Given the description of an element on the screen output the (x, y) to click on. 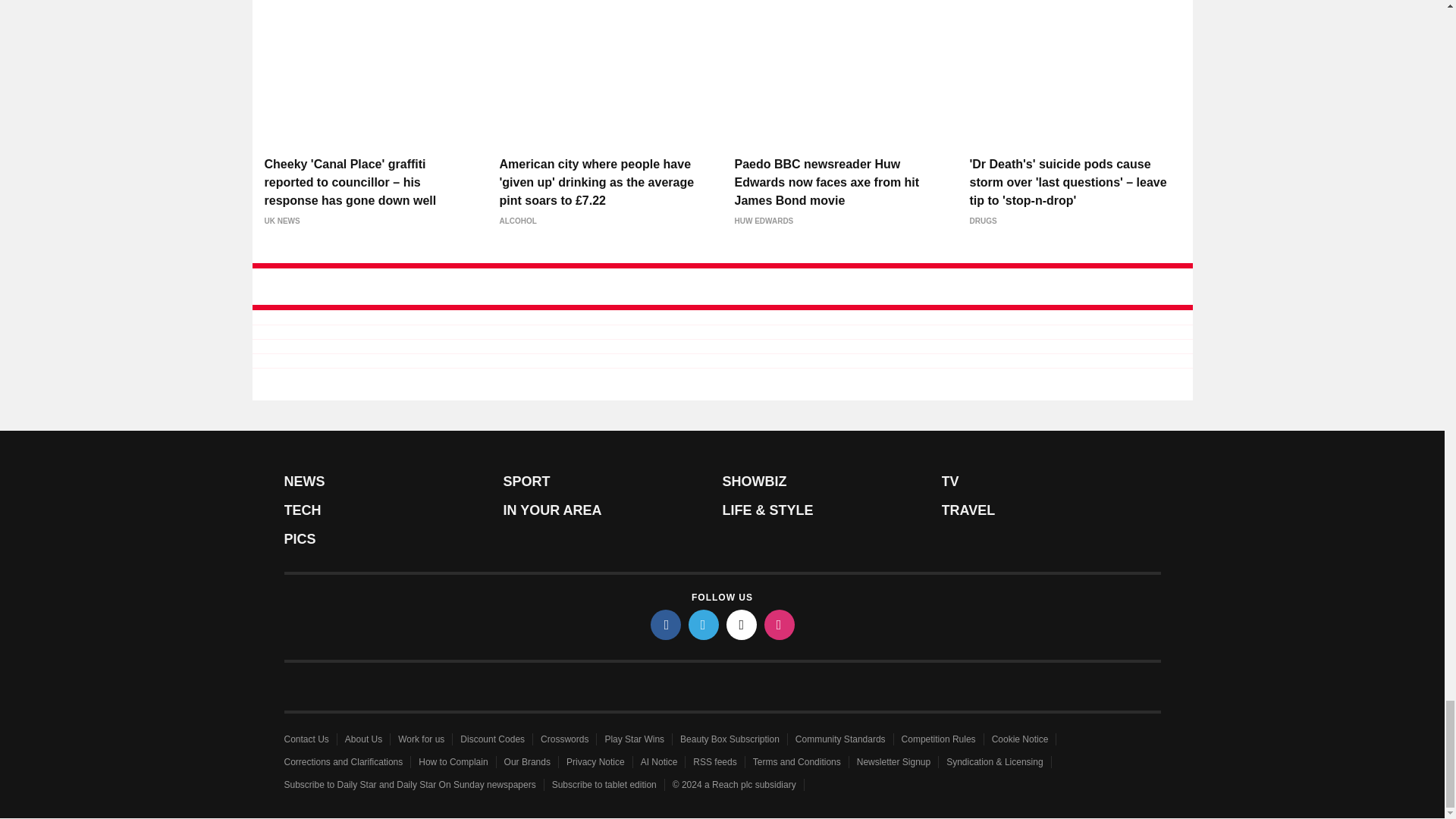
twitter (703, 624)
facebook (665, 624)
instagram (779, 624)
tiktok (741, 624)
